Given the description of an element on the screen output the (x, y) to click on. 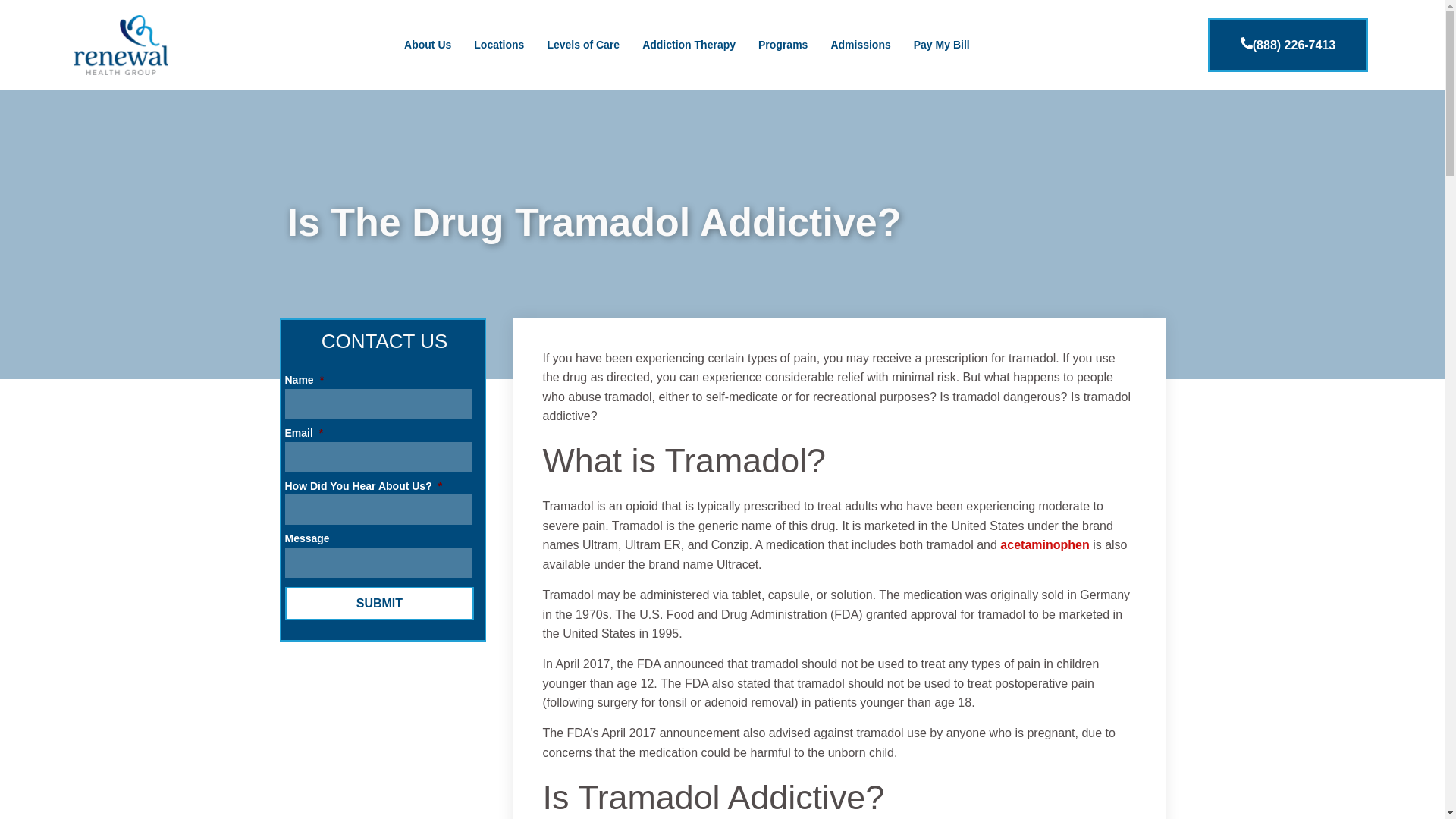
About Us (428, 44)
Levels of Care (582, 44)
Locations (499, 44)
Submit (378, 603)
Addiction Therapy (688, 44)
